Given the description of an element on the screen output the (x, y) to click on. 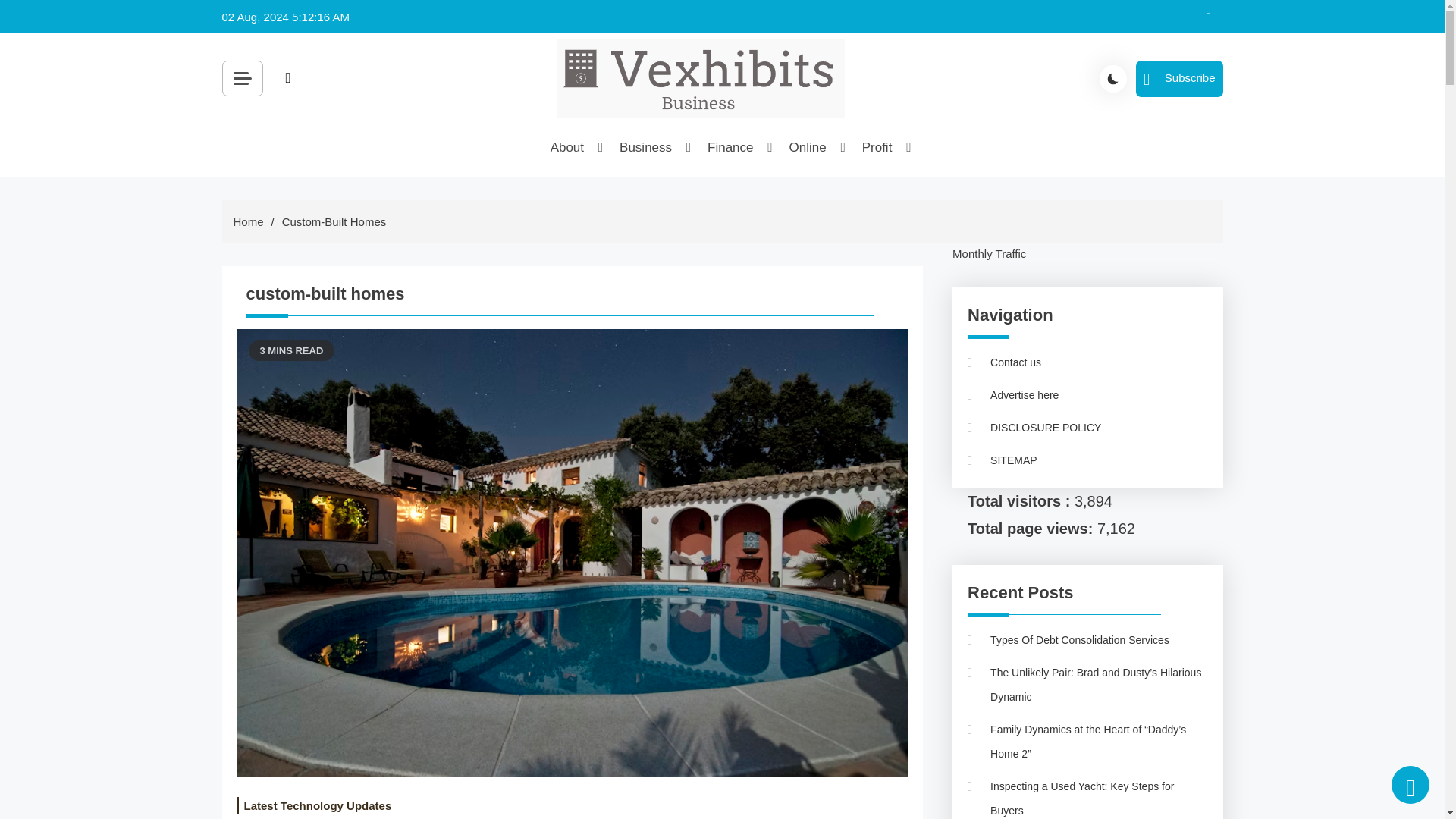
About (568, 147)
Profit (878, 147)
Business (646, 147)
Search (458, 112)
Vexhibits (616, 137)
Subscribe (1179, 78)
Online (809, 147)
Finance (730, 147)
site mode button (1112, 78)
